Given the description of an element on the screen output the (x, y) to click on. 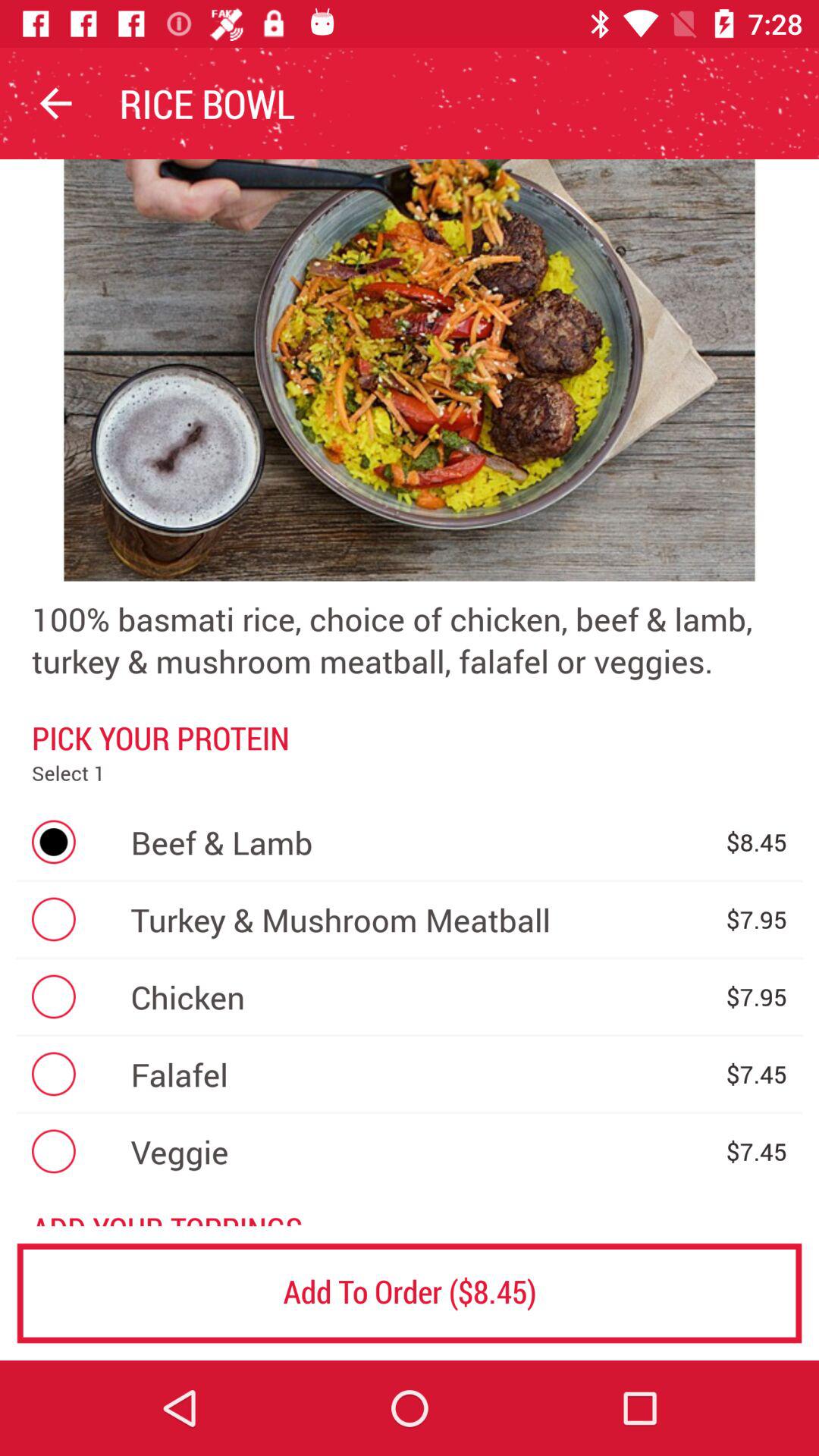
click the item next to the $7.45 (420, 1151)
